Given the description of an element on the screen output the (x, y) to click on. 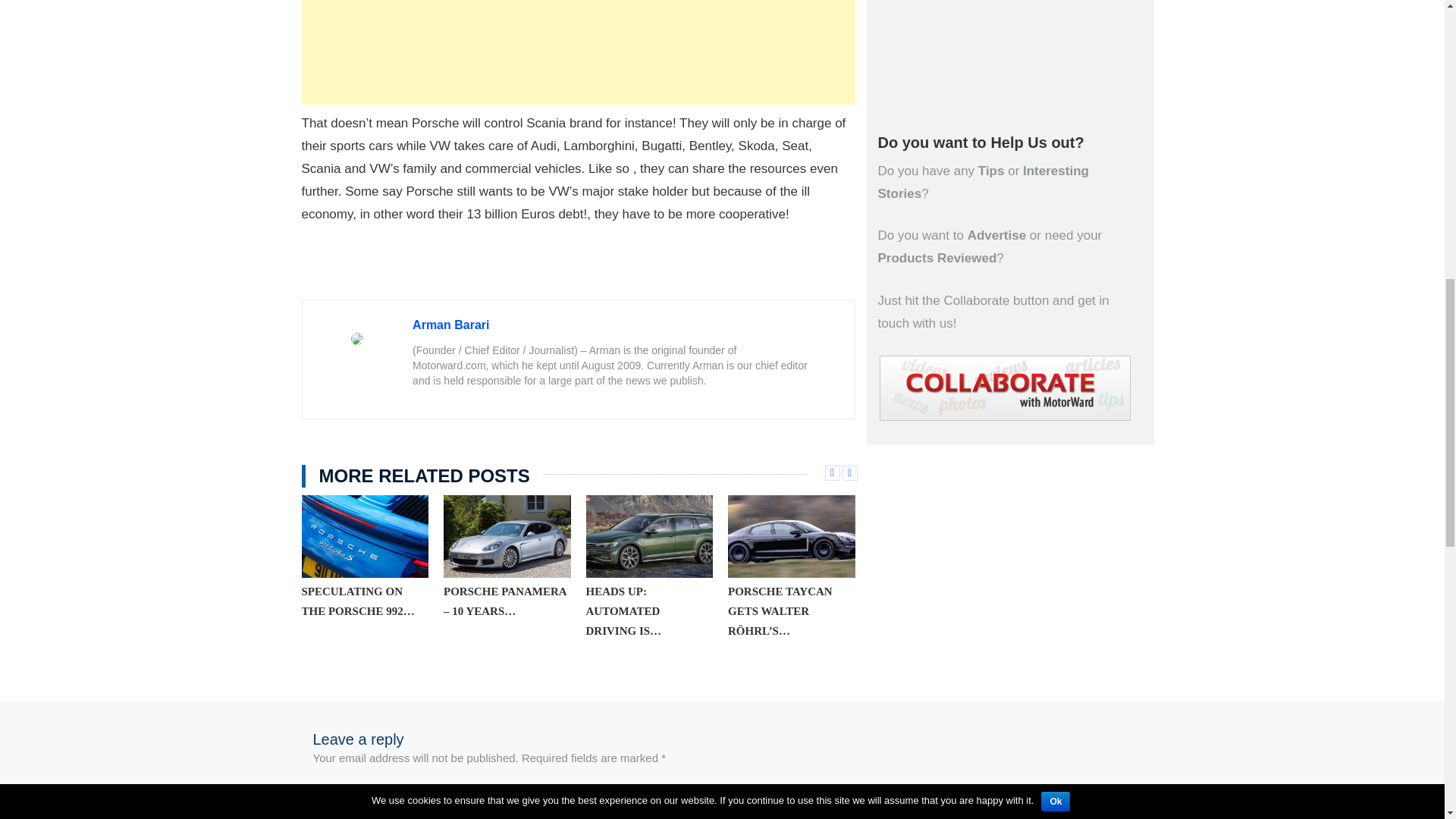
panamera 1 550x360 (507, 536)
911 Turbo 550x360 (365, 536)
Posts by Arman Barari (450, 324)
Advertisement (578, 52)
2020 vw passat 1 550x360 (649, 536)
